Given the description of an element on the screen output the (x, y) to click on. 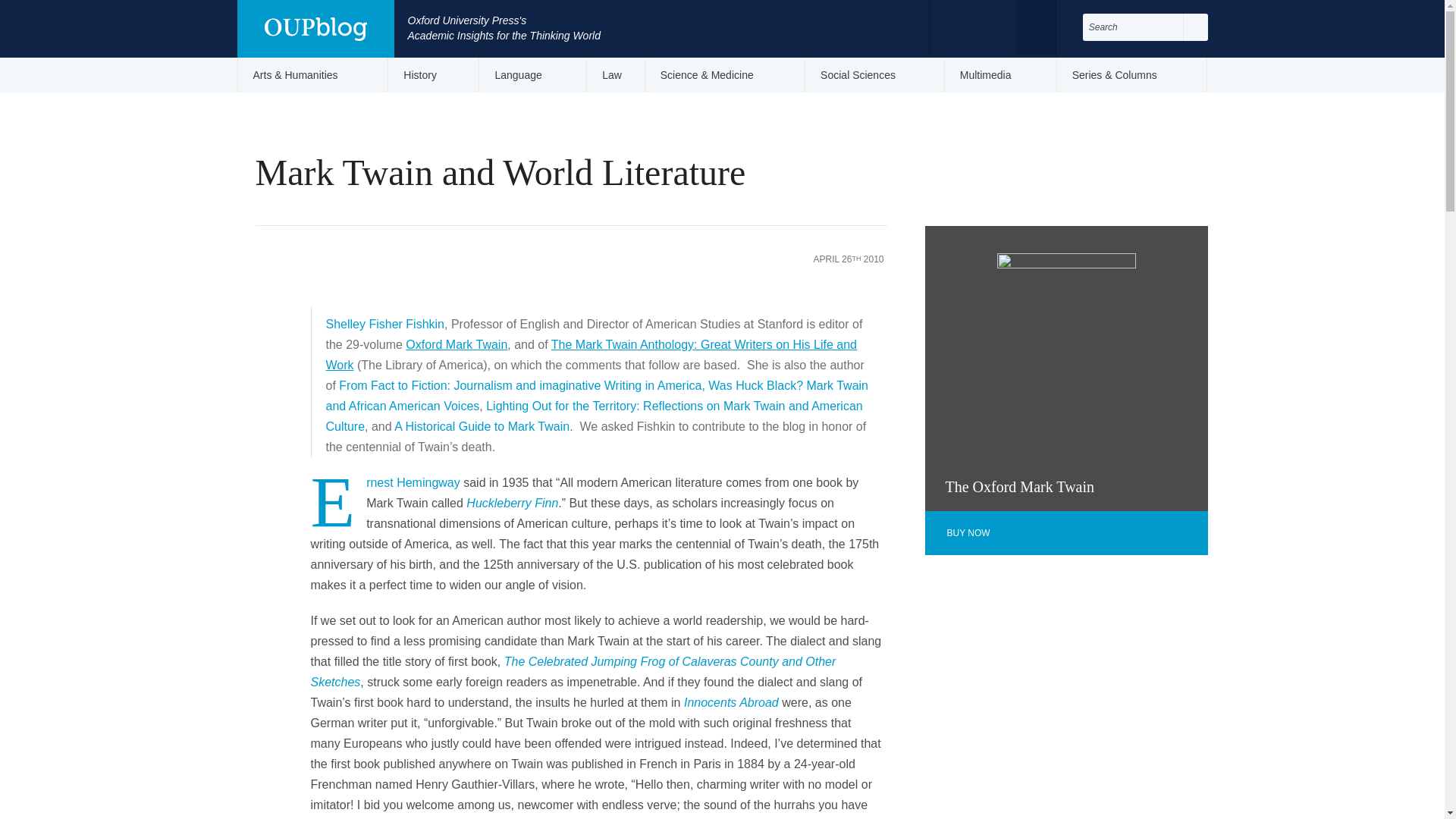
History (433, 74)
Twitter (986, 25)
Law (615, 74)
Facebook (957, 25)
Language (532, 74)
Search for: (1132, 26)
Search (1195, 26)
